Given the description of an element on the screen output the (x, y) to click on. 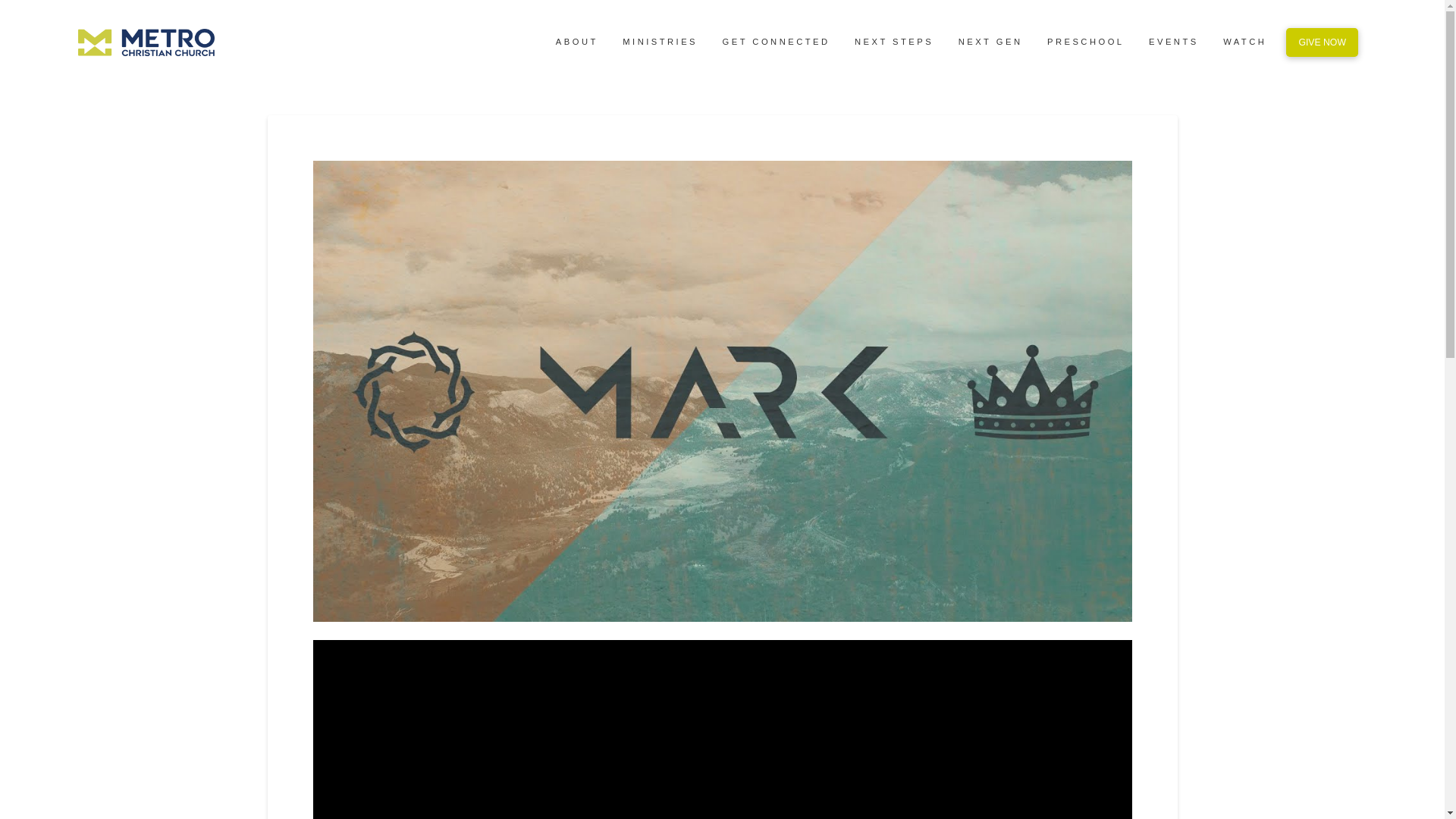
NEXT STEPS (892, 42)
NEXT GEN (988, 42)
GET CONNECTED (775, 42)
MINISTRIES (657, 42)
PRESCHOOL (1084, 42)
GIVE NOW (1321, 41)
